Given the description of an element on the screen output the (x, y) to click on. 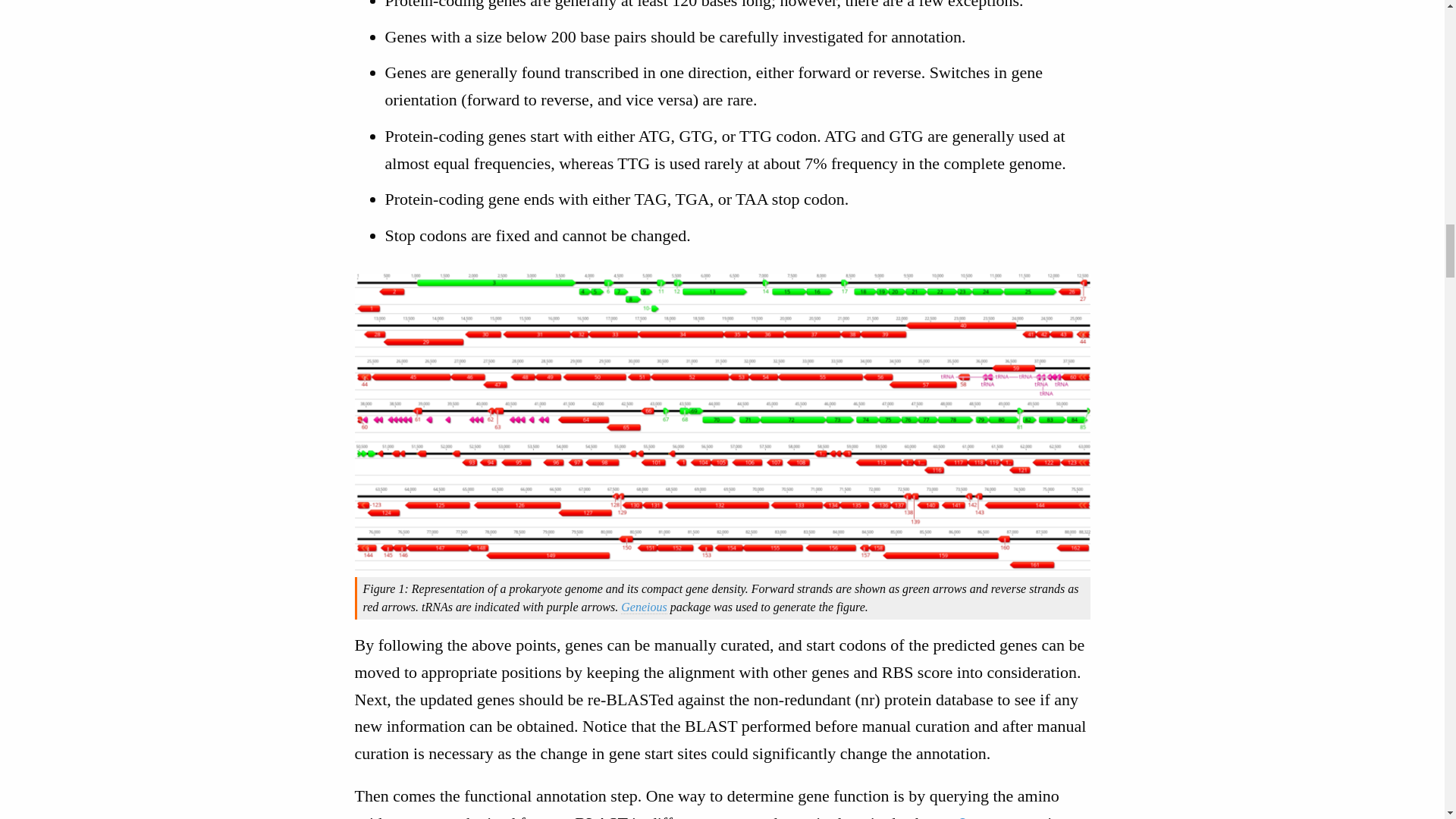
Geneious (643, 607)
Interproscan (1001, 816)
